Given the description of an element on the screen output the (x, y) to click on. 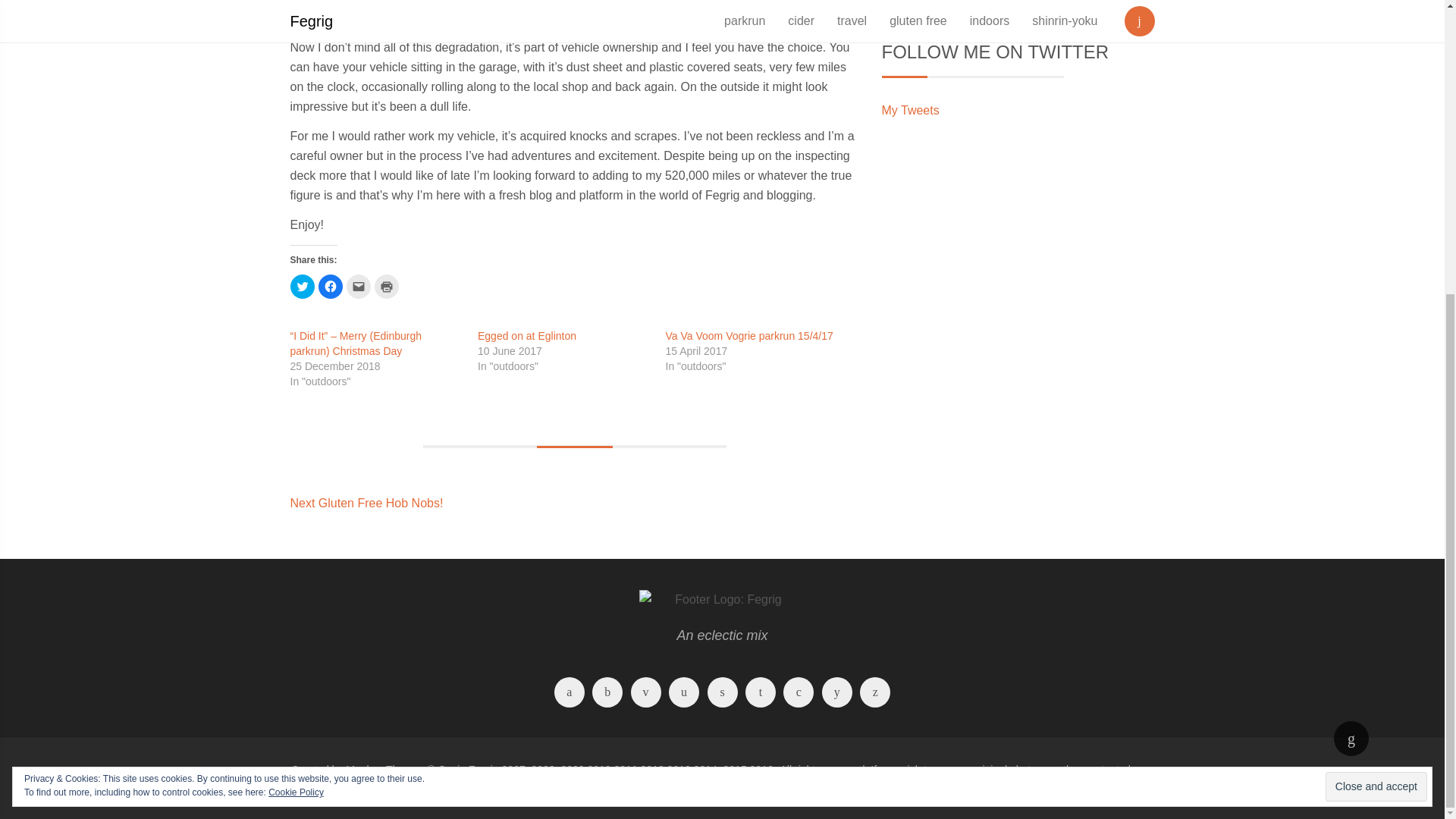
Twitter (606, 694)
Click to print (386, 286)
Google Plus (645, 694)
Egged on at Eglinton (526, 336)
Click to share on Facebook (330, 286)
Path (721, 694)
Click to share on Twitter (301, 286)
Xing (365, 502)
Linkedin (797, 694)
